Given the description of an element on the screen output the (x, y) to click on. 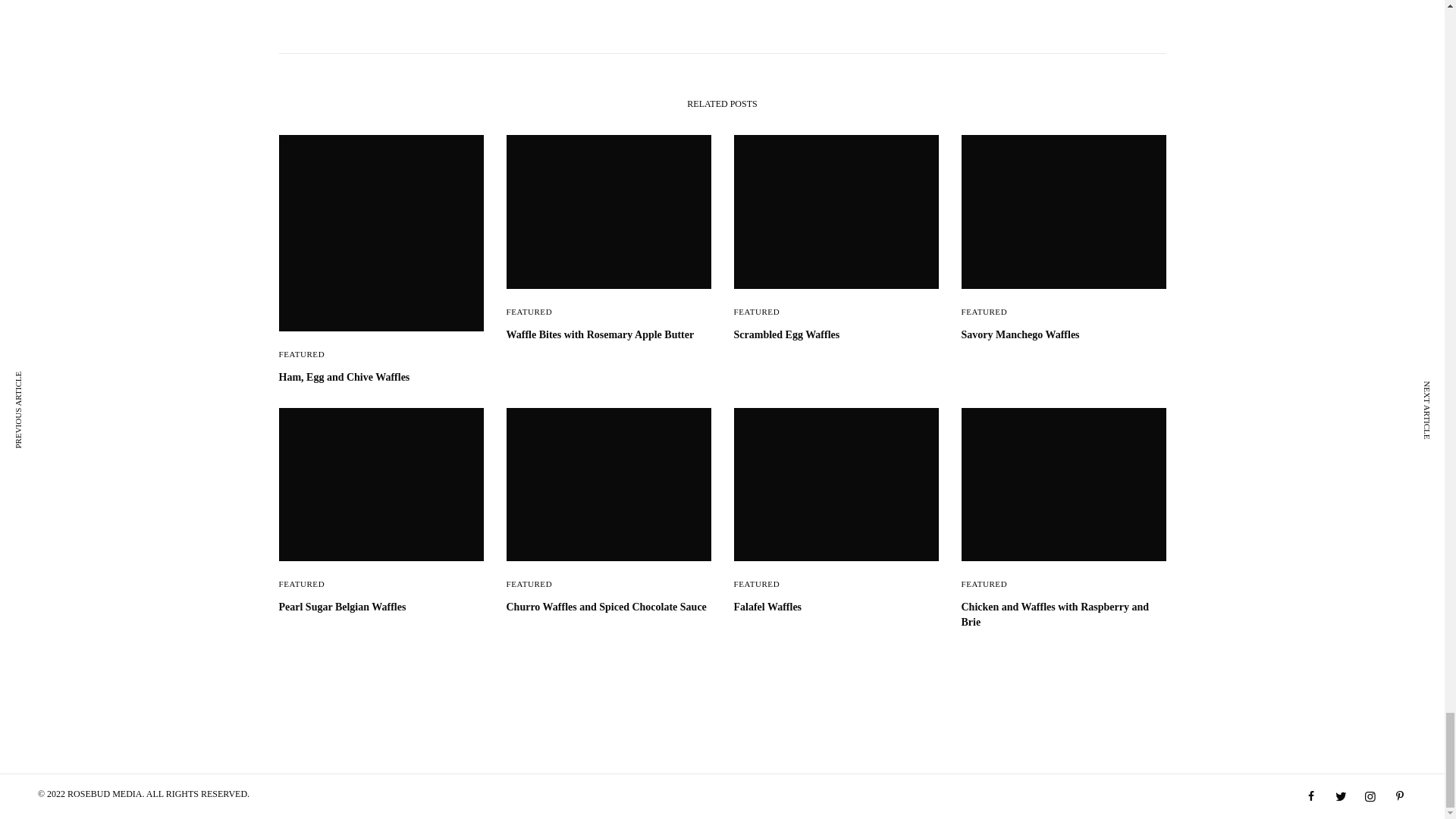
Churro Waffles and Spiced Chocolate Sauce (608, 607)
Chicken and Waffles with Raspberry and Brie (1063, 614)
Ham, Egg and Chive Waffles (381, 377)
Pearl Sugar Belgian Waffles (381, 607)
Savory Manchego Waffles (1063, 335)
Scrambled Egg Waffles (836, 335)
Waffle Bites with Rosemary Apple Butter (608, 335)
Falafel Waffles (836, 607)
